Given the description of an element on the screen output the (x, y) to click on. 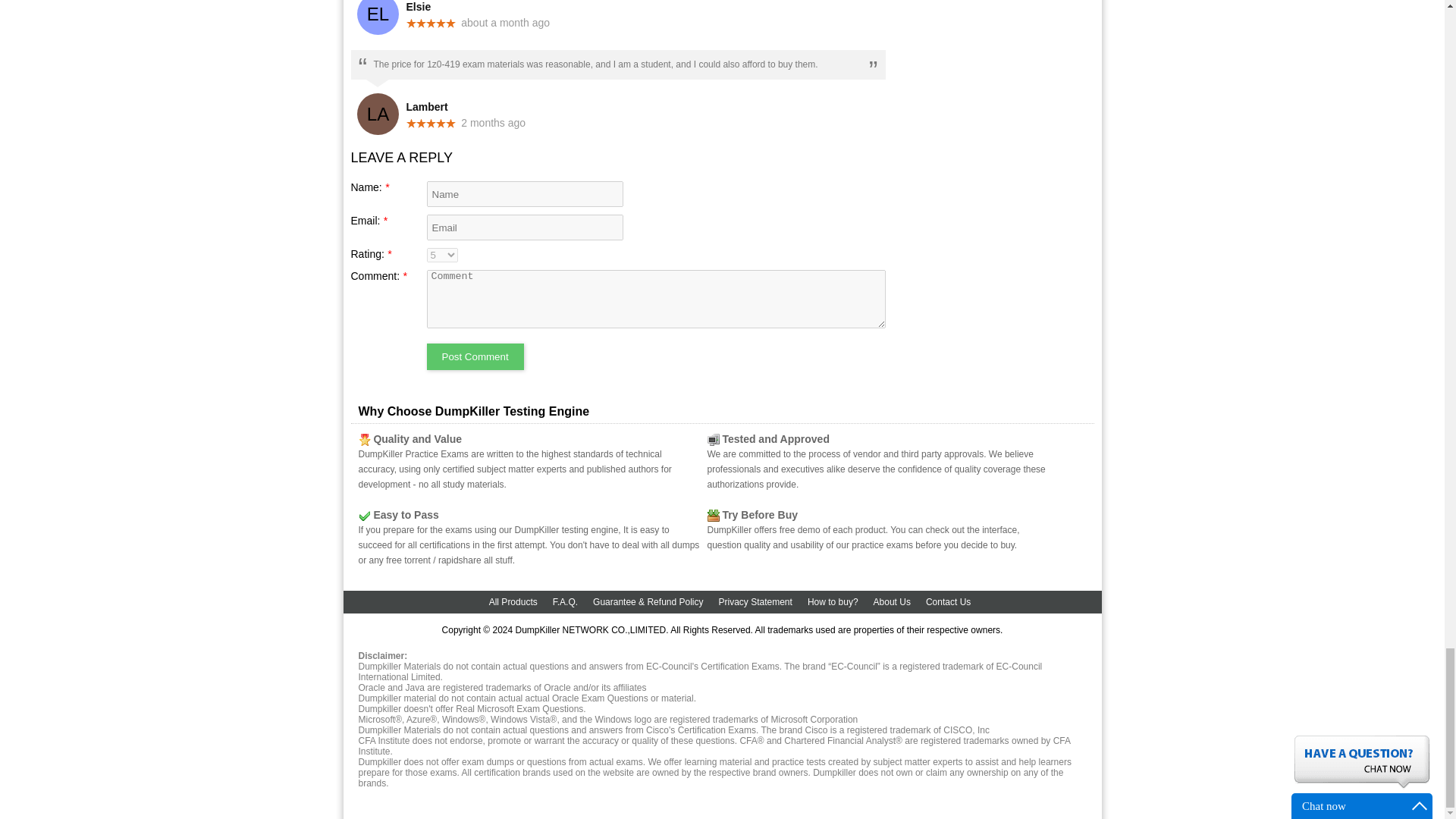
Post Comment (474, 356)
